Given the description of an element on the screen output the (x, y) to click on. 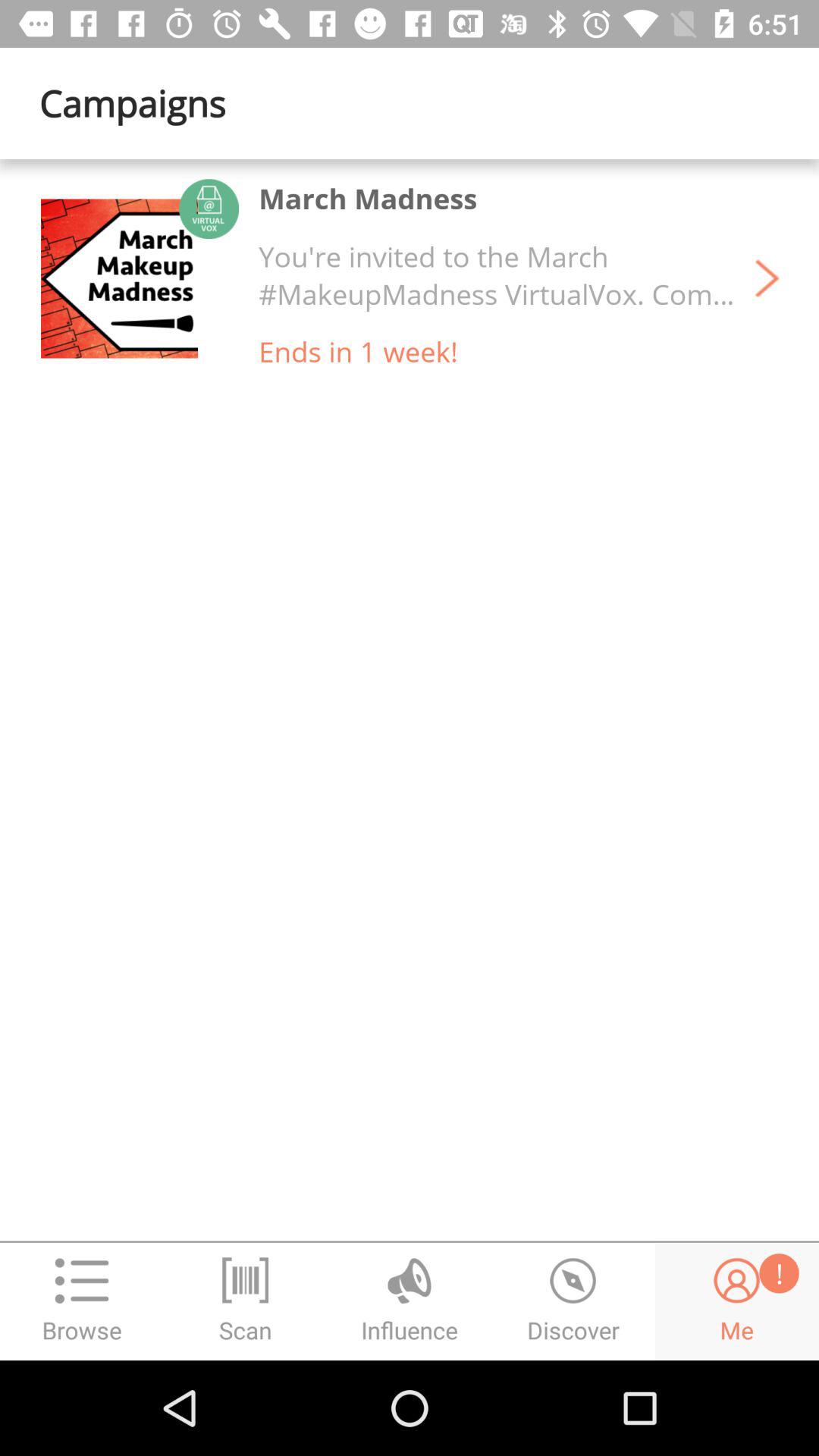
select the item above the ! item (767, 278)
